Given the description of an element on the screen output the (x, y) to click on. 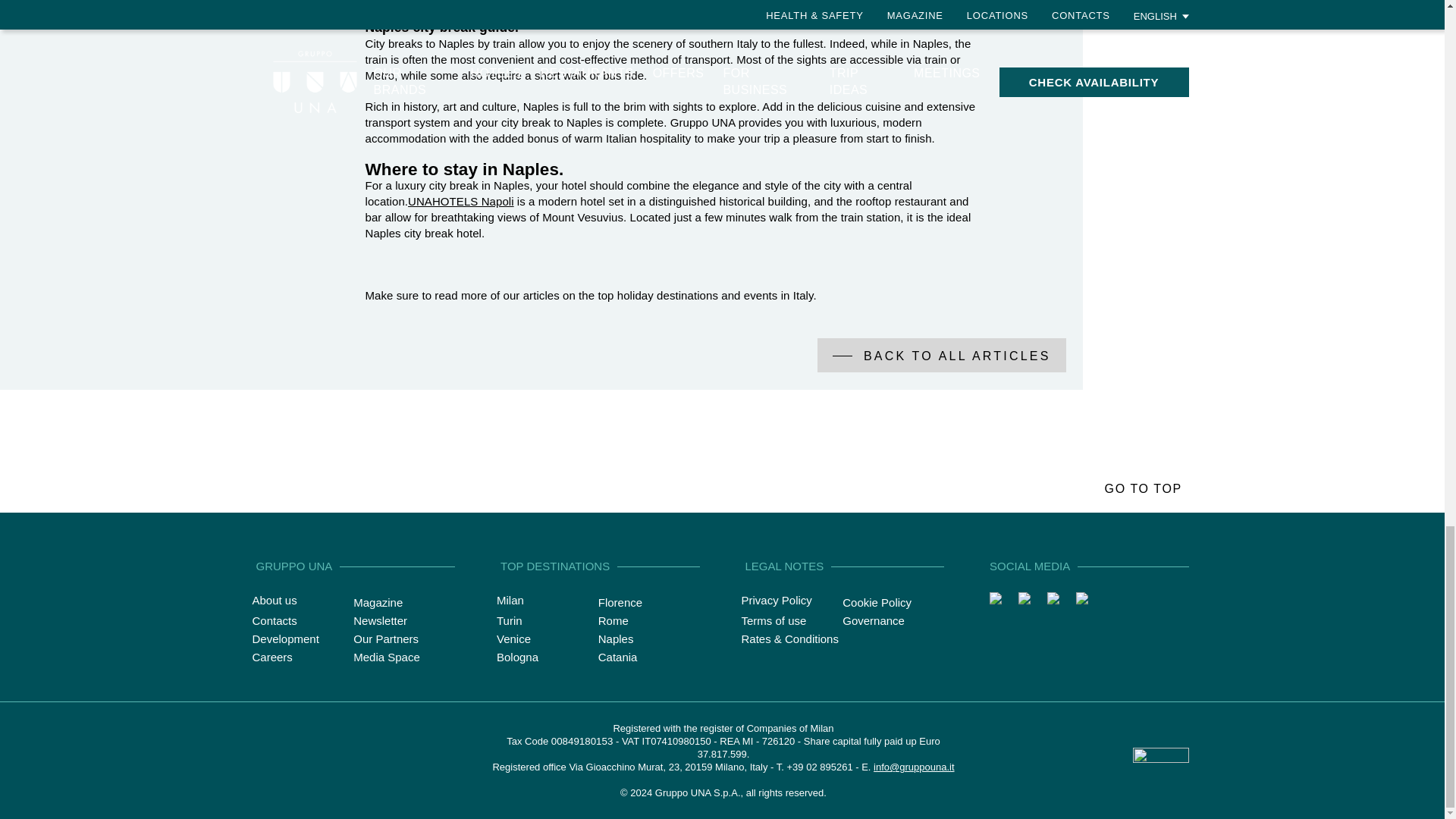
GO TO TOP (1145, 488)
